Given the description of an element on the screen output the (x, y) to click on. 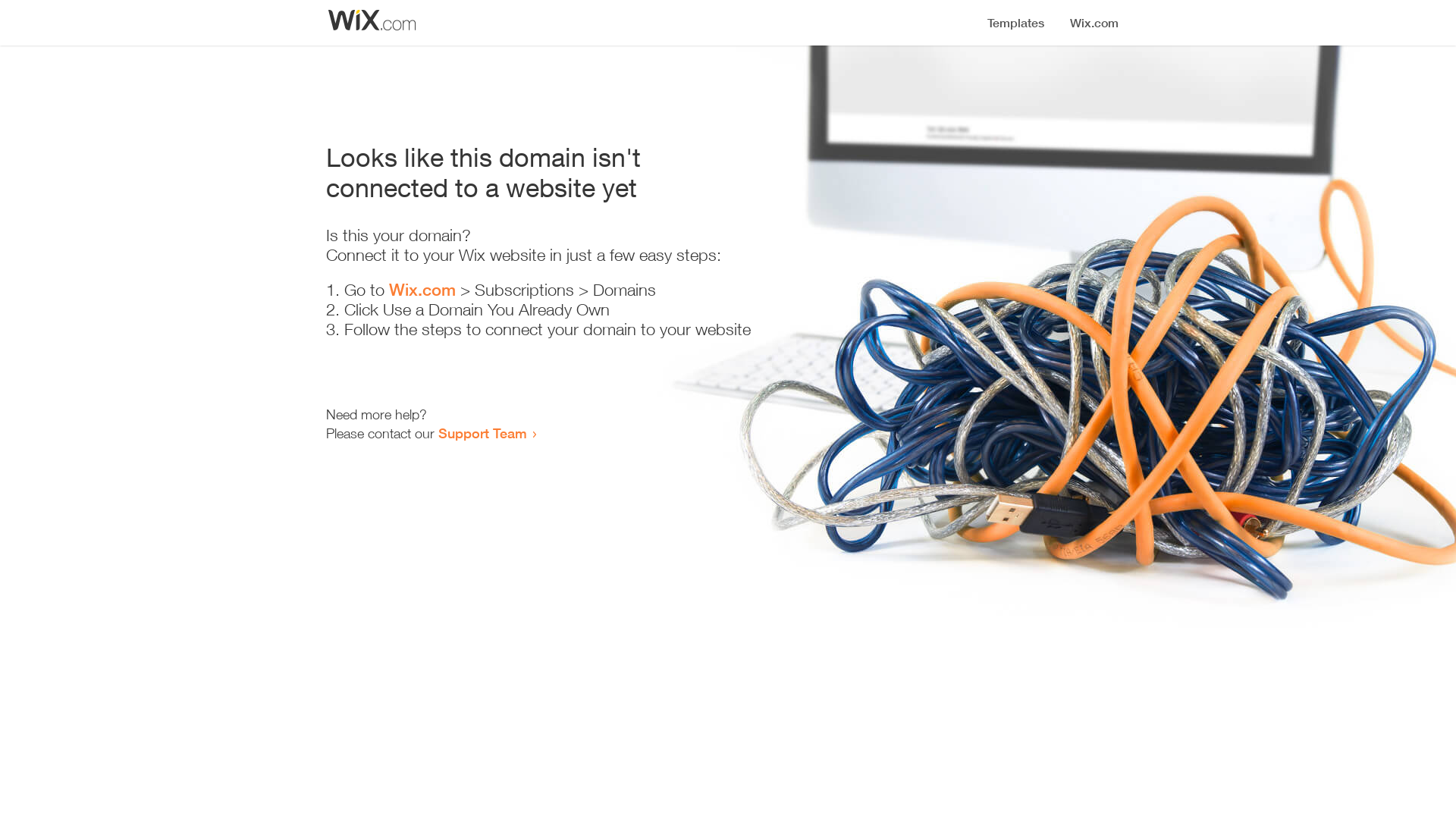
Wix.com Element type: text (422, 289)
Support Team Element type: text (482, 432)
